Given the description of an element on the screen output the (x, y) to click on. 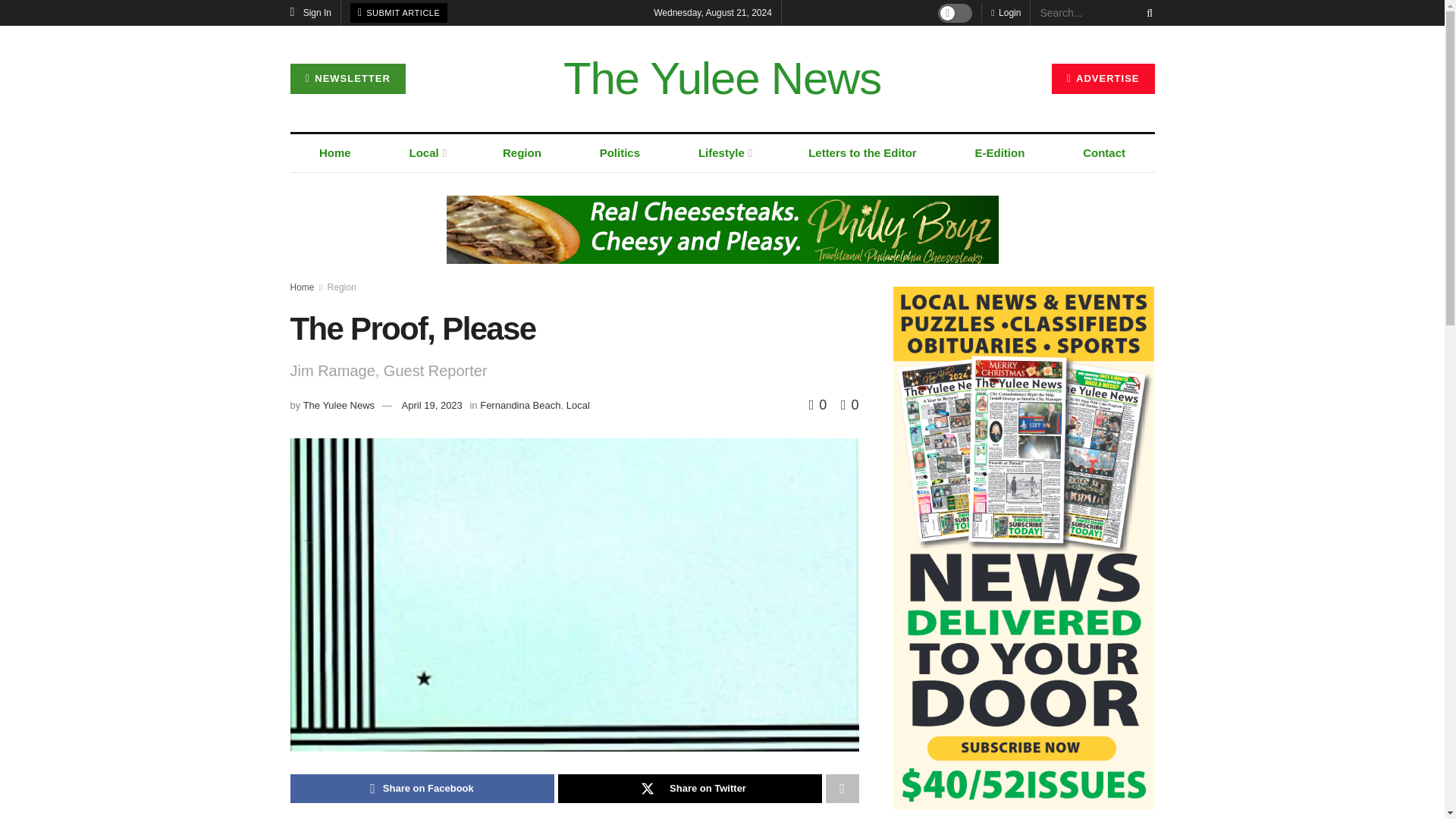
Sign In (310, 12)
Login (1005, 12)
NEWSLETTER (346, 78)
Politics (619, 152)
ADVERTISE (1102, 78)
SUBMIT ARTICLE (398, 12)
Lifestyle (723, 152)
Region (522, 152)
The Yulee News (721, 78)
Home (334, 152)
